Given the description of an element on the screen output the (x, y) to click on. 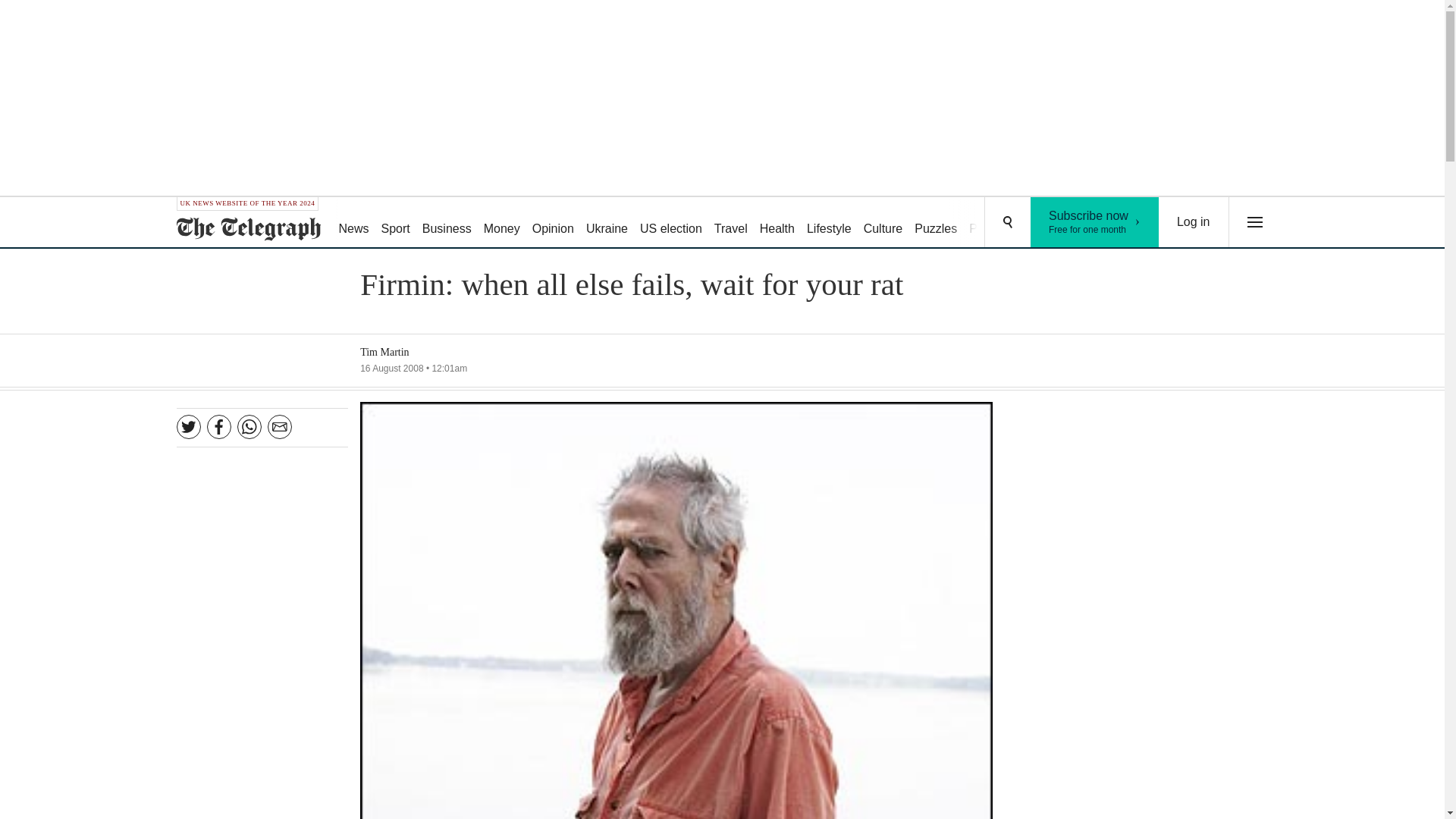
Puzzles (935, 223)
Money (501, 223)
Log in (1193, 222)
Health (777, 223)
Lifestyle (828, 223)
US election (670, 223)
Travel (730, 223)
Opinion (1094, 222)
Culture (552, 223)
